Given the description of an element on the screen output the (x, y) to click on. 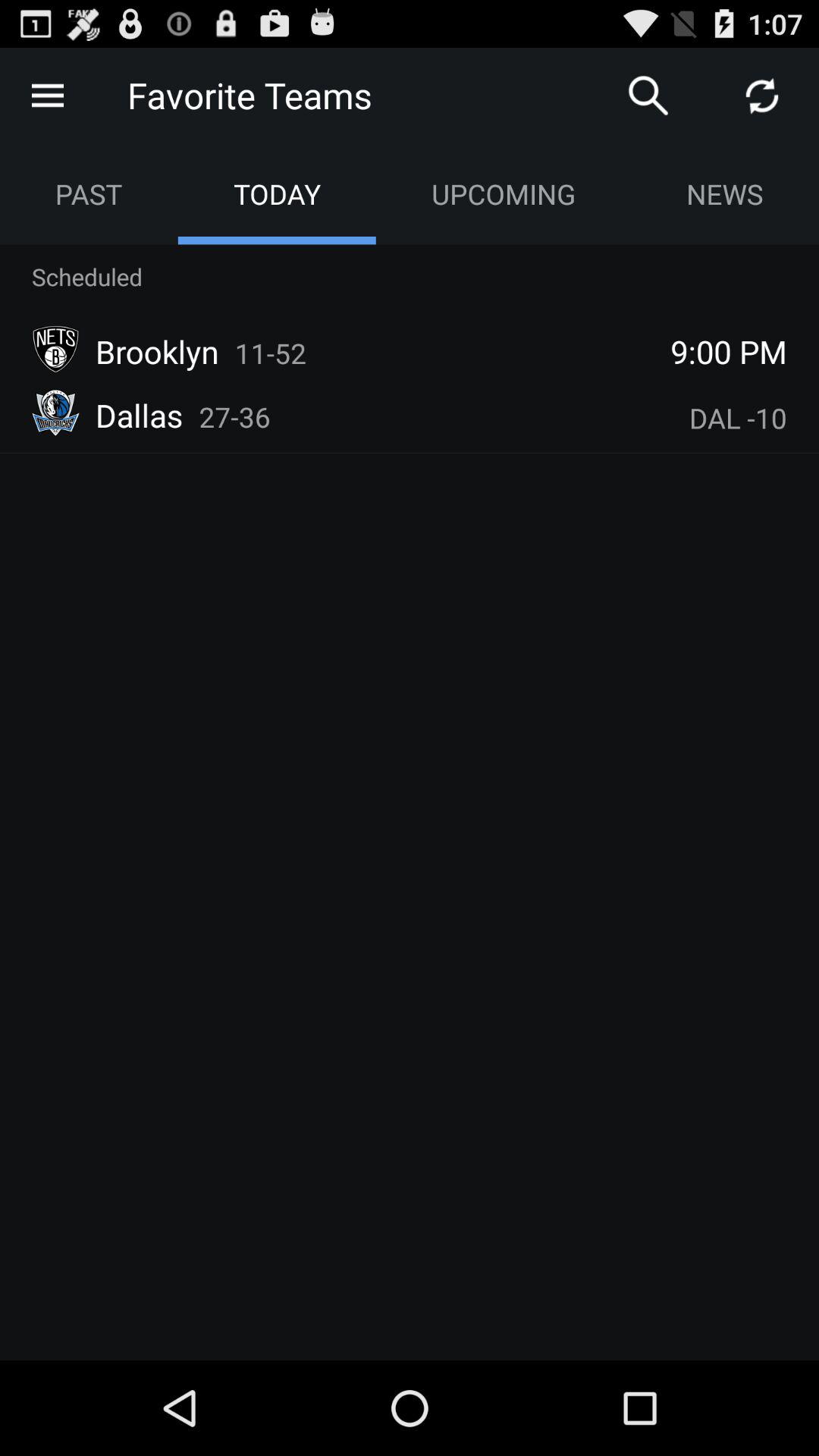
select item above the upcoming app (648, 95)
